Given the description of an element on the screen output the (x, y) to click on. 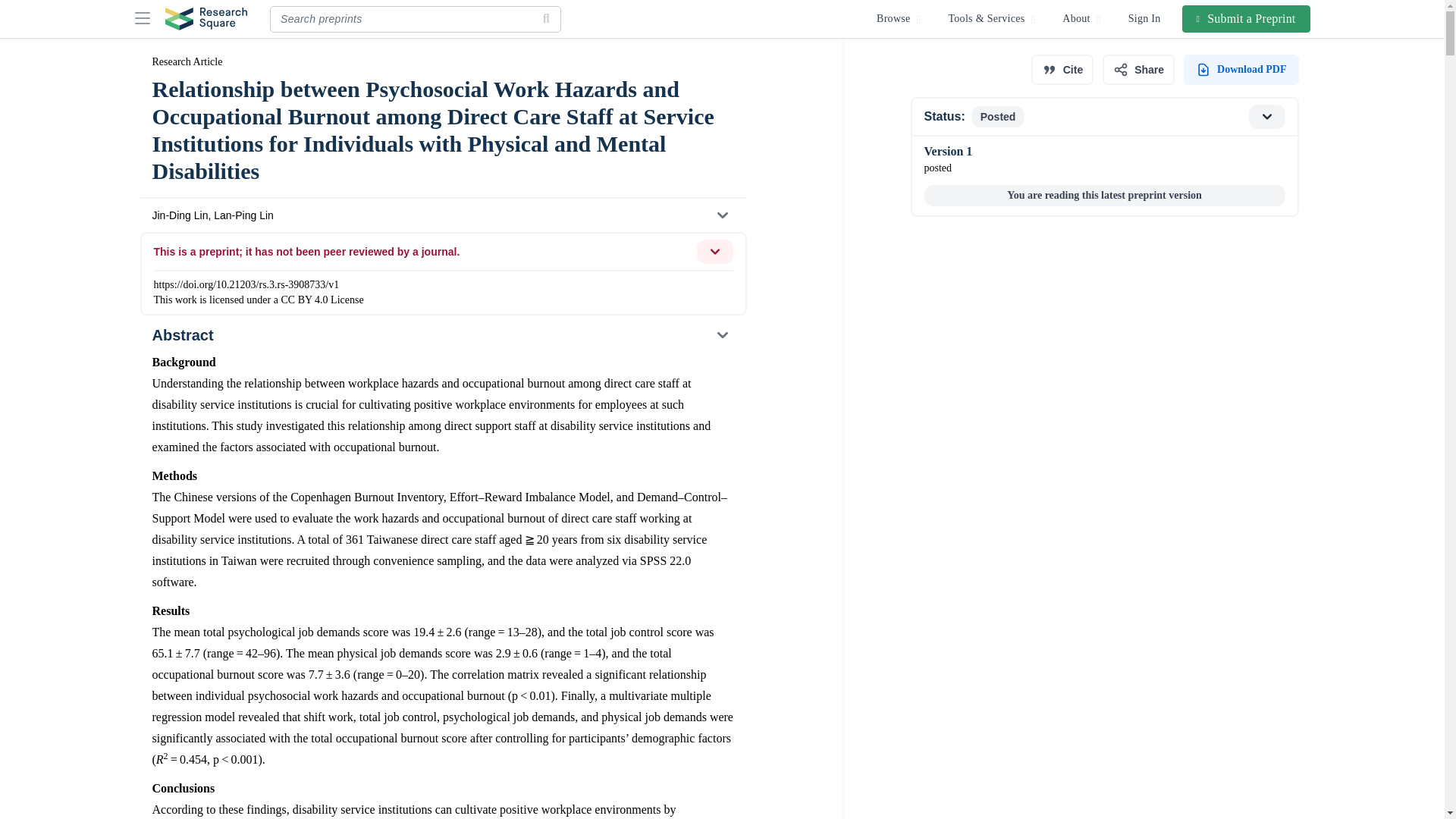
Jin-Ding Lin, Lan-Ping Lin (442, 215)
Cite (1061, 69)
PDF (1103, 116)
Sign In (1240, 69)
Share (1144, 18)
Submit a Preprint (1138, 69)
Abstract (1246, 18)
